Given the description of an element on the screen output the (x, y) to click on. 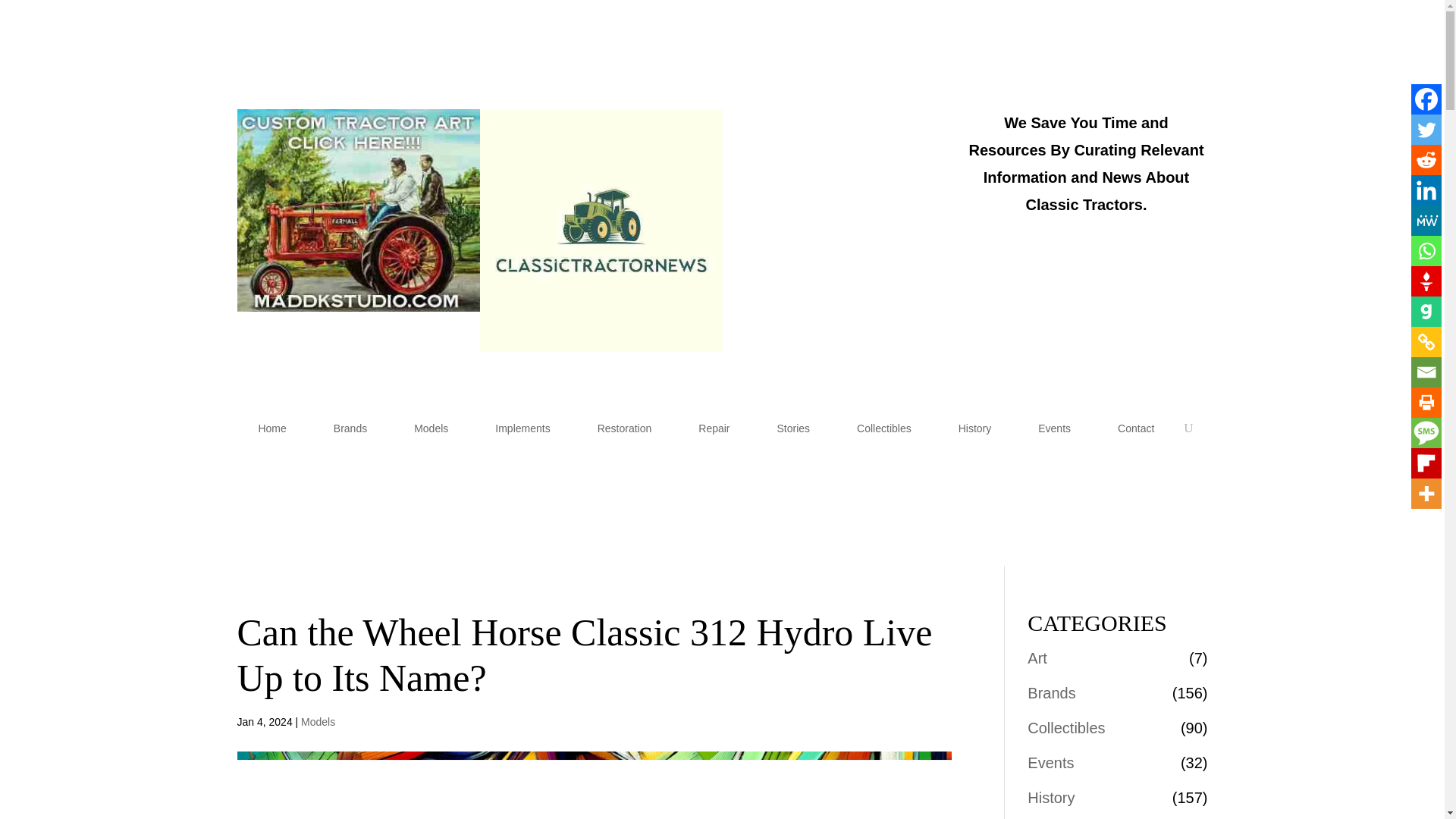
Twitter (1425, 129)
Repair (713, 428)
classic-tractor-news-logo (600, 230)
Collectibles (883, 428)
Restoration (624, 428)
History (975, 428)
MeWe (1425, 220)
Models (317, 721)
Follow on Facebook (922, 120)
Whatsapp (1425, 250)
